Given the description of an element on the screen output the (x, y) to click on. 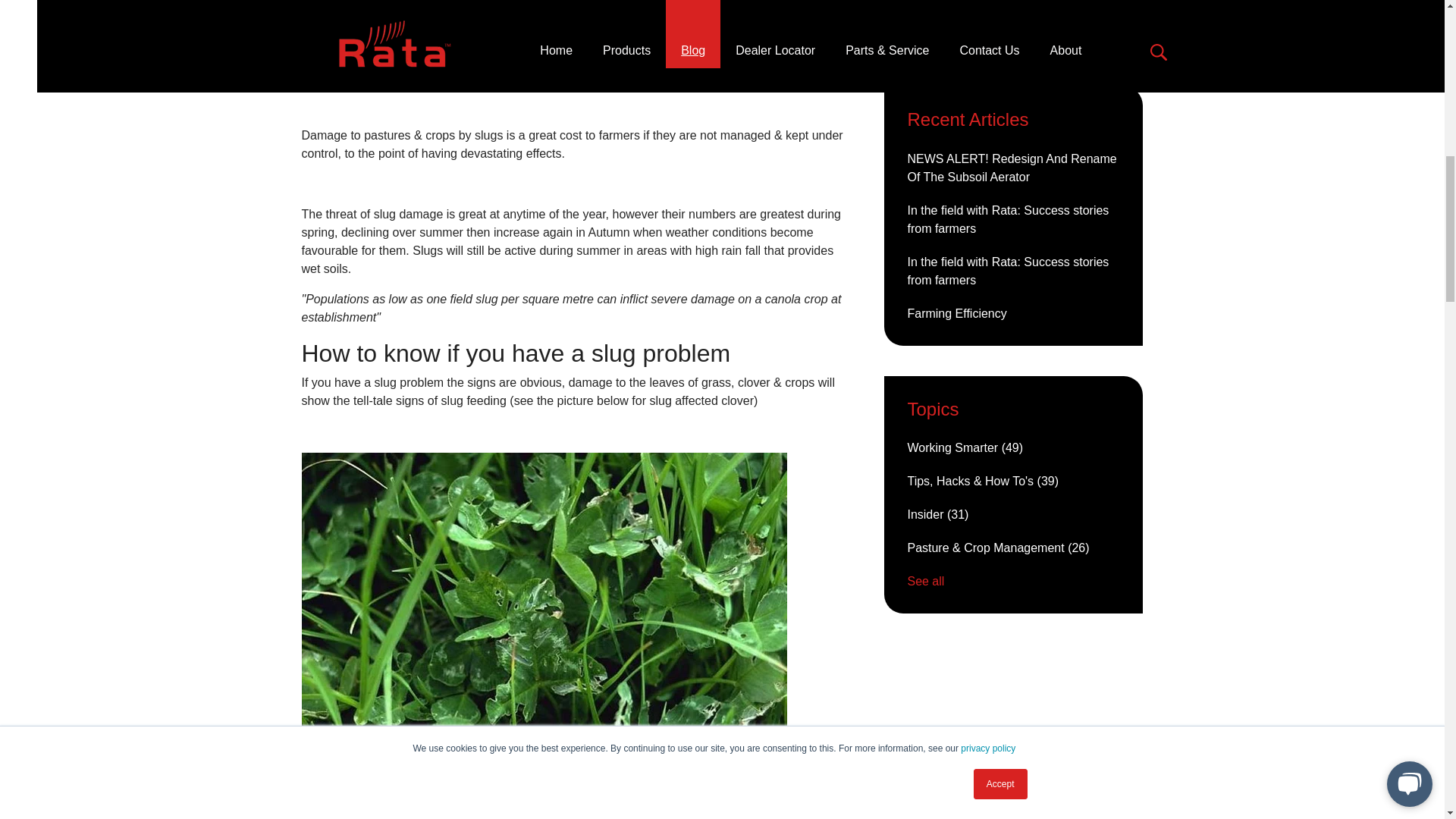
Subscribe (1013, 16)
